Given the description of an element on the screen output the (x, y) to click on. 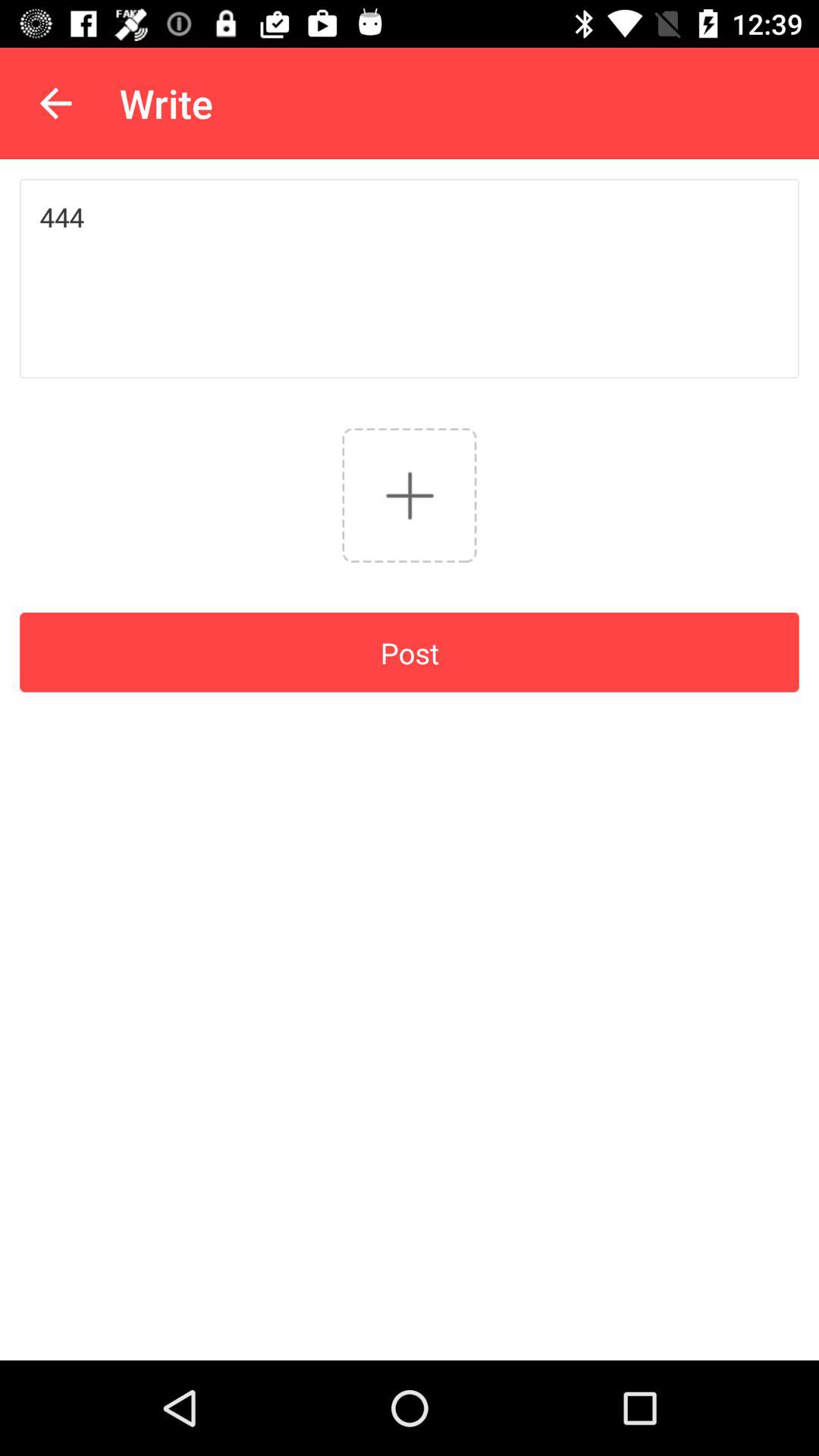
flip to post icon (409, 652)
